Given the description of an element on the screen output the (x, y) to click on. 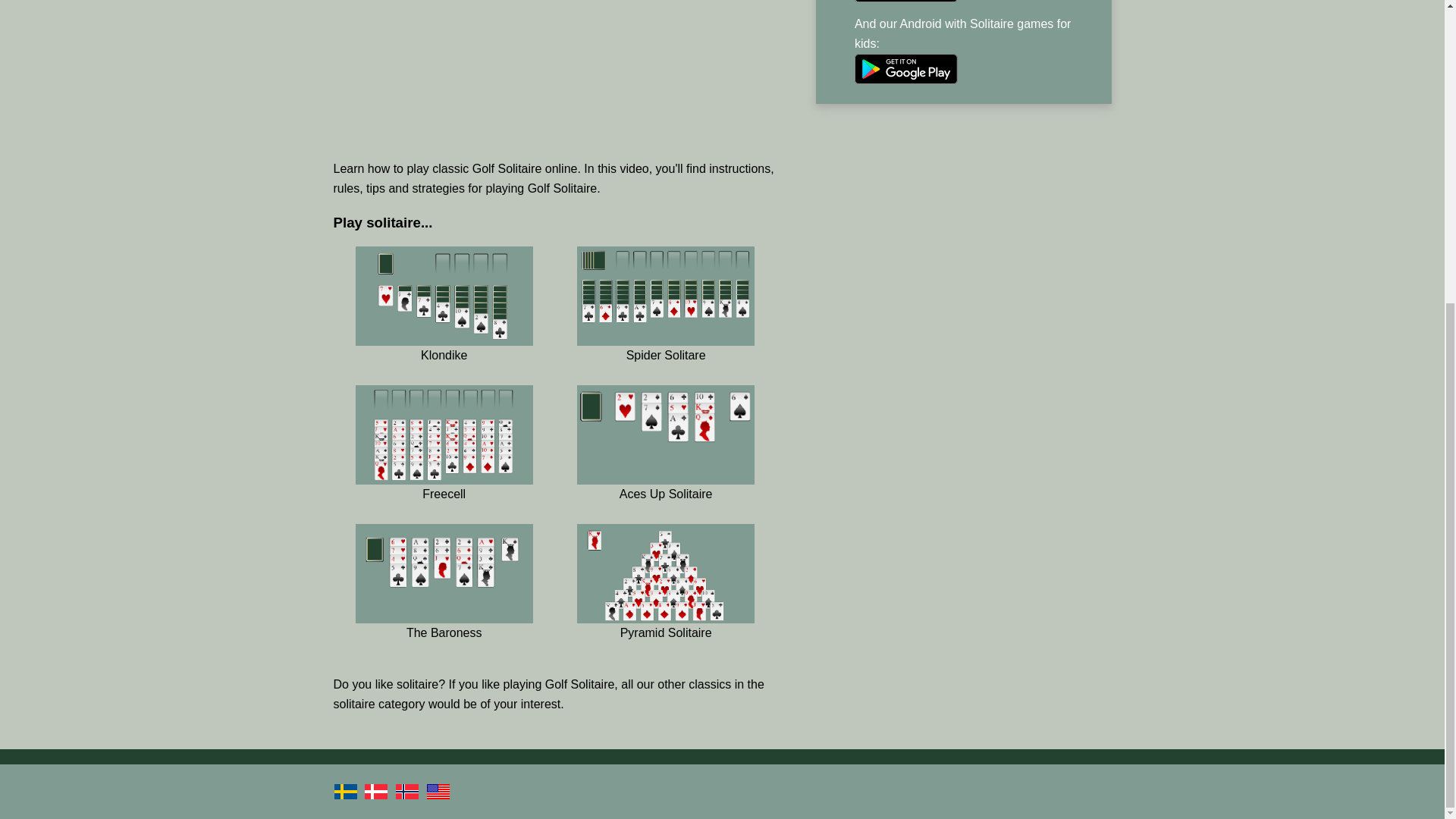
Pyramid Solitaire (665, 602)
solitaire (354, 703)
Klondike (443, 325)
The Baroness (443, 602)
Advertisement (555, 73)
Aces Up Solitaire (665, 463)
Freecell (443, 463)
solitaire (417, 684)
Spider Solitare (665, 325)
